Given the description of an element on the screen output the (x, y) to click on. 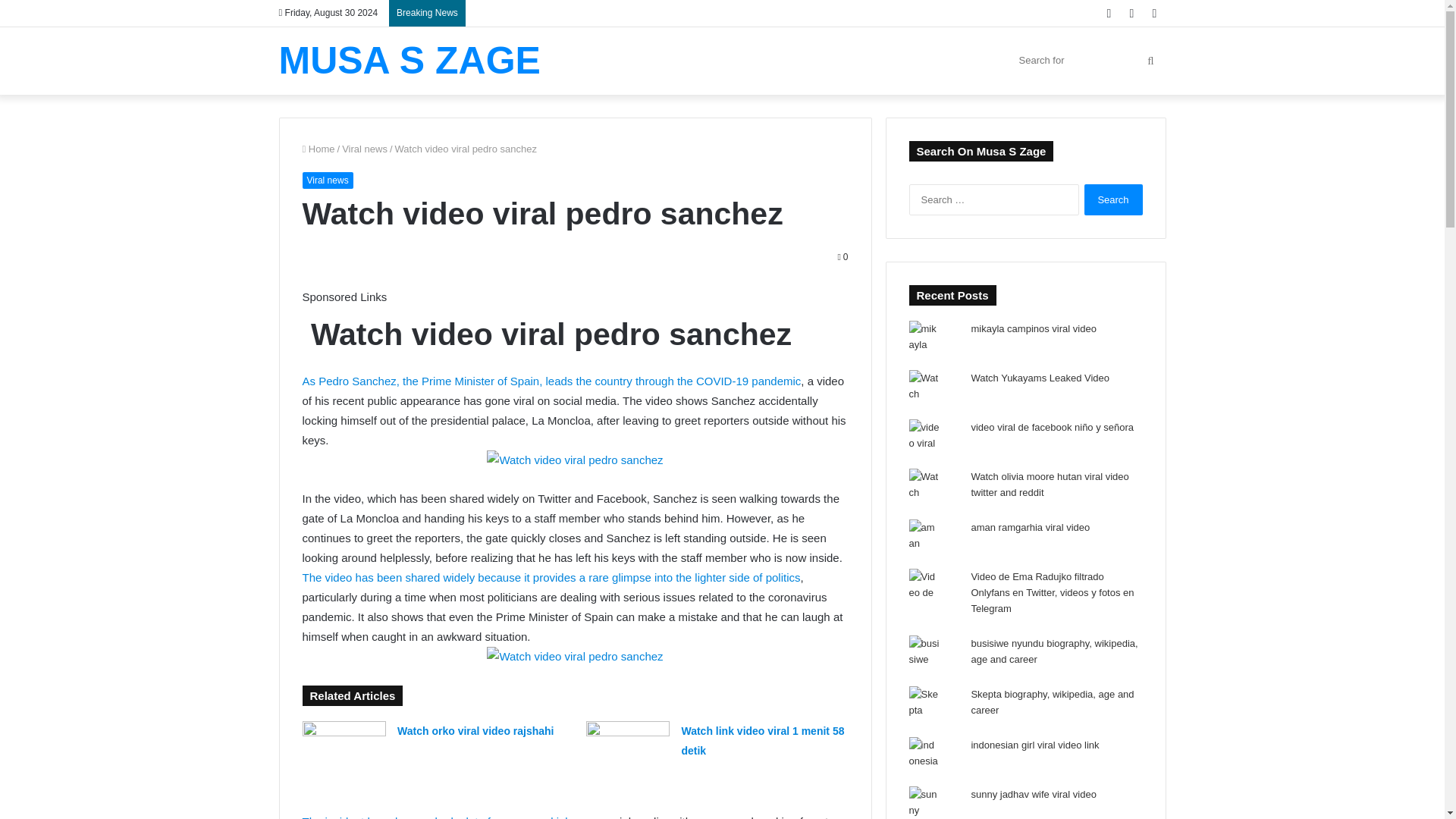
Search for (1088, 59)
Viral news (326, 180)
MUSA S ZAGE (409, 60)
Watch orko viral video rajshahi (475, 730)
MUSA S ZAGE (409, 60)
Home (317, 148)
Search (1113, 199)
Watch link video viral 1 menit 58 detik (762, 740)
Viral news (364, 148)
